Given the description of an element on the screen output the (x, y) to click on. 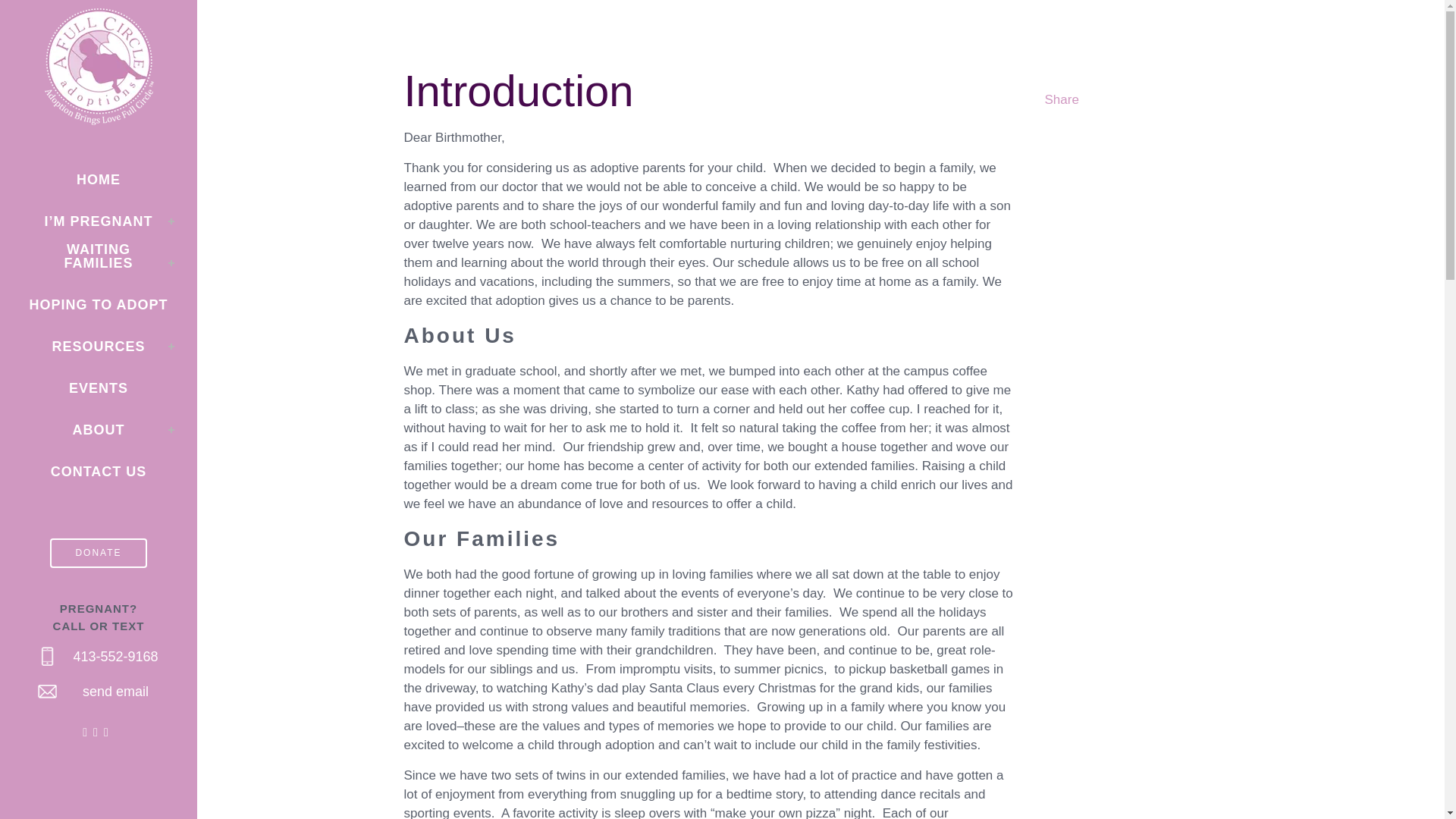
WAITING FAMILIES (98, 263)
ABOUT (98, 430)
CONTACT US (98, 472)
DONATE (98, 553)
EVENTS (98, 388)
HOPING TO ADOPT (98, 304)
HOME (98, 179)
send email (115, 691)
RESOURCES (98, 346)
413-552-9168 (114, 656)
